Given the description of an element on the screen output the (x, y) to click on. 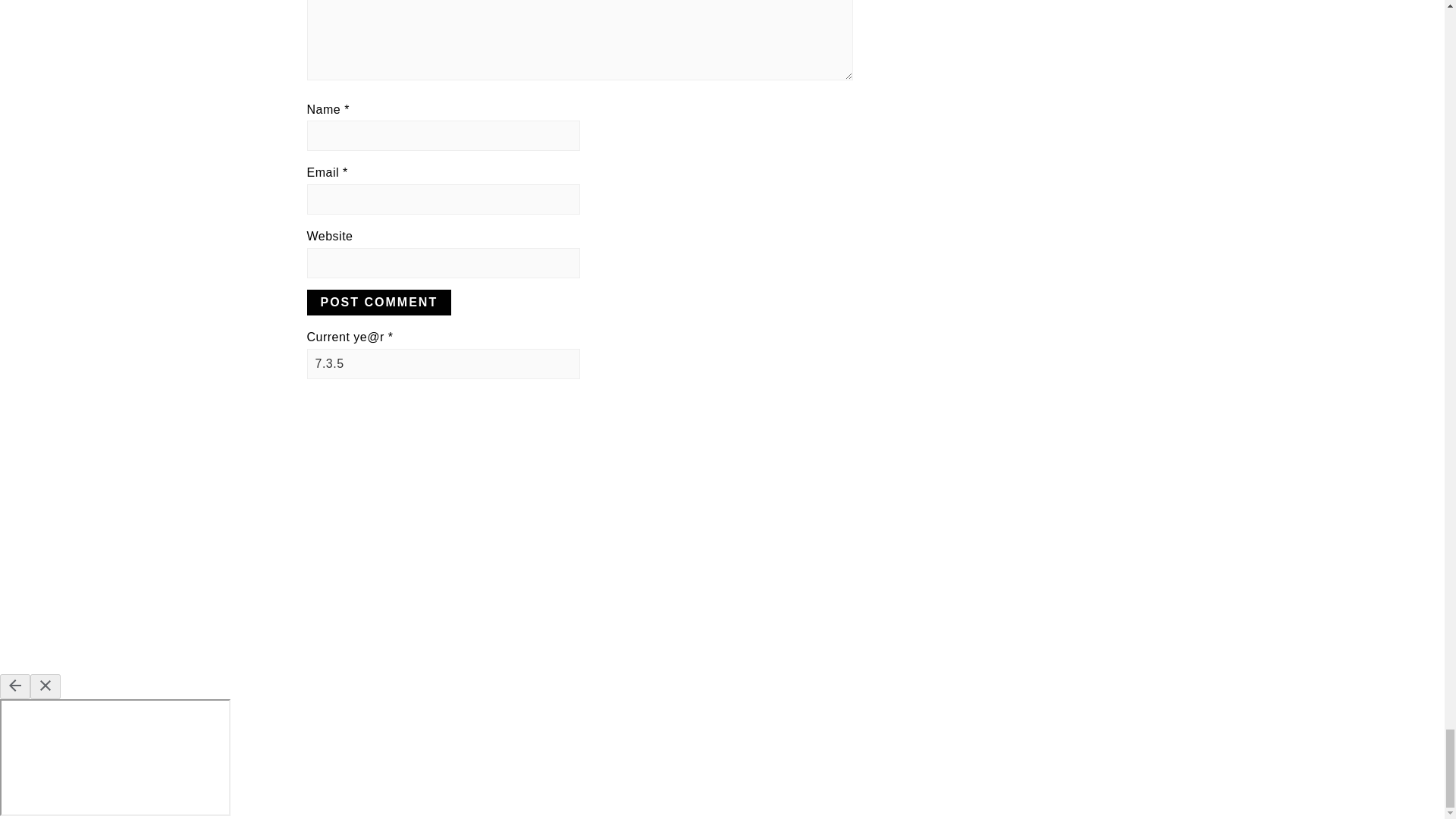
Post Comment (378, 302)
7.3.5 (442, 363)
Post Comment (378, 302)
